Given the description of an element on the screen output the (x, y) to click on. 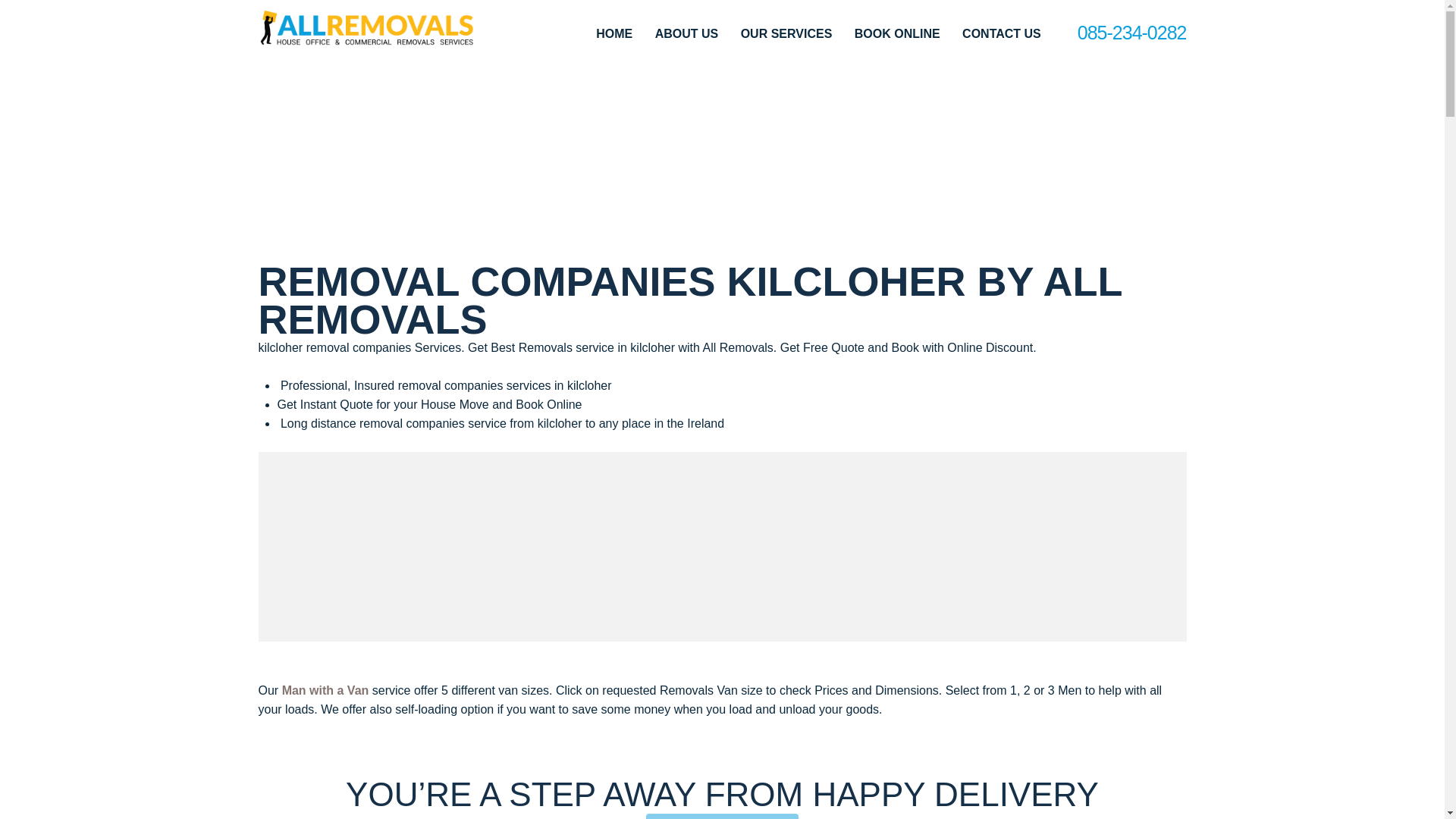
Get a Free Quote (721, 816)
ABOUT US (687, 33)
Man with a Van (325, 689)
BOOK ONLINE (897, 33)
HOME (613, 33)
OUR SERVICES (786, 33)
085-234-0282 (1131, 32)
CONTACT US (1001, 33)
